Given the description of an element on the screen output the (x, y) to click on. 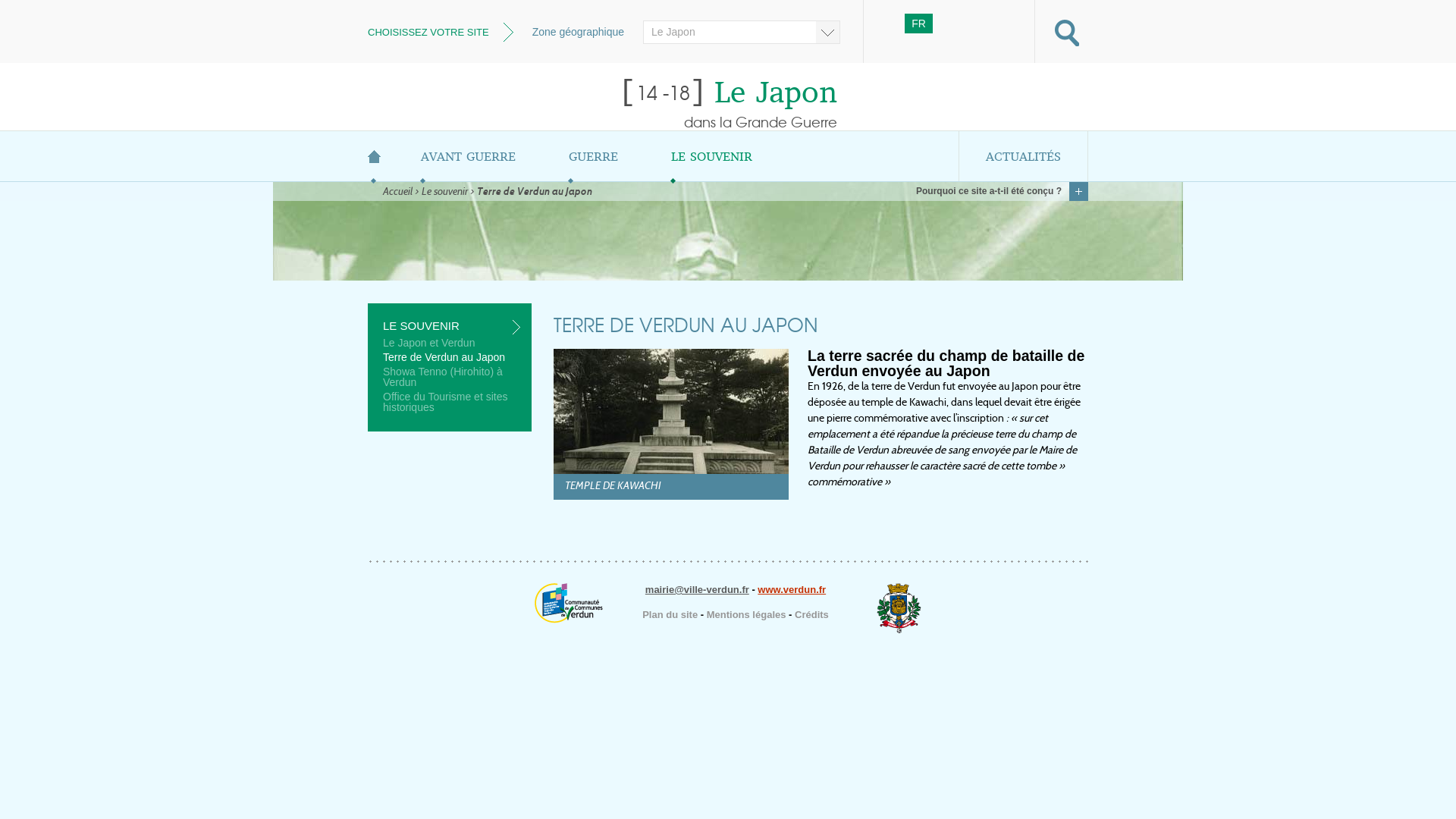
AVANT GUERRE Element type: text (468, 156)
Office du Tourisme et sites historiques Element type: text (451, 403)
Le Japon et Verdun Element type: text (451, 344)
Le Japon Element type: text (741, 31)
Accueil Element type: text (397, 191)
mairie@ville-verdun.fr Element type: text (697, 589)
www.verdun.fr Element type: text (791, 589)
Temple de Kawachi Element type: hover (670, 410)
ACCUEIL Element type: text (380, 156)
LE SOUVENIR Element type: text (451, 325)
GUERRE Element type: text (593, 156)
Le souvenir Element type: text (444, 191)
Terre de Verdun au Japon Element type: text (451, 358)
LE SOUVENIR Element type: text (711, 156)
Plan du site Element type: text (669, 614)
